Given the description of an element on the screen output the (x, y) to click on. 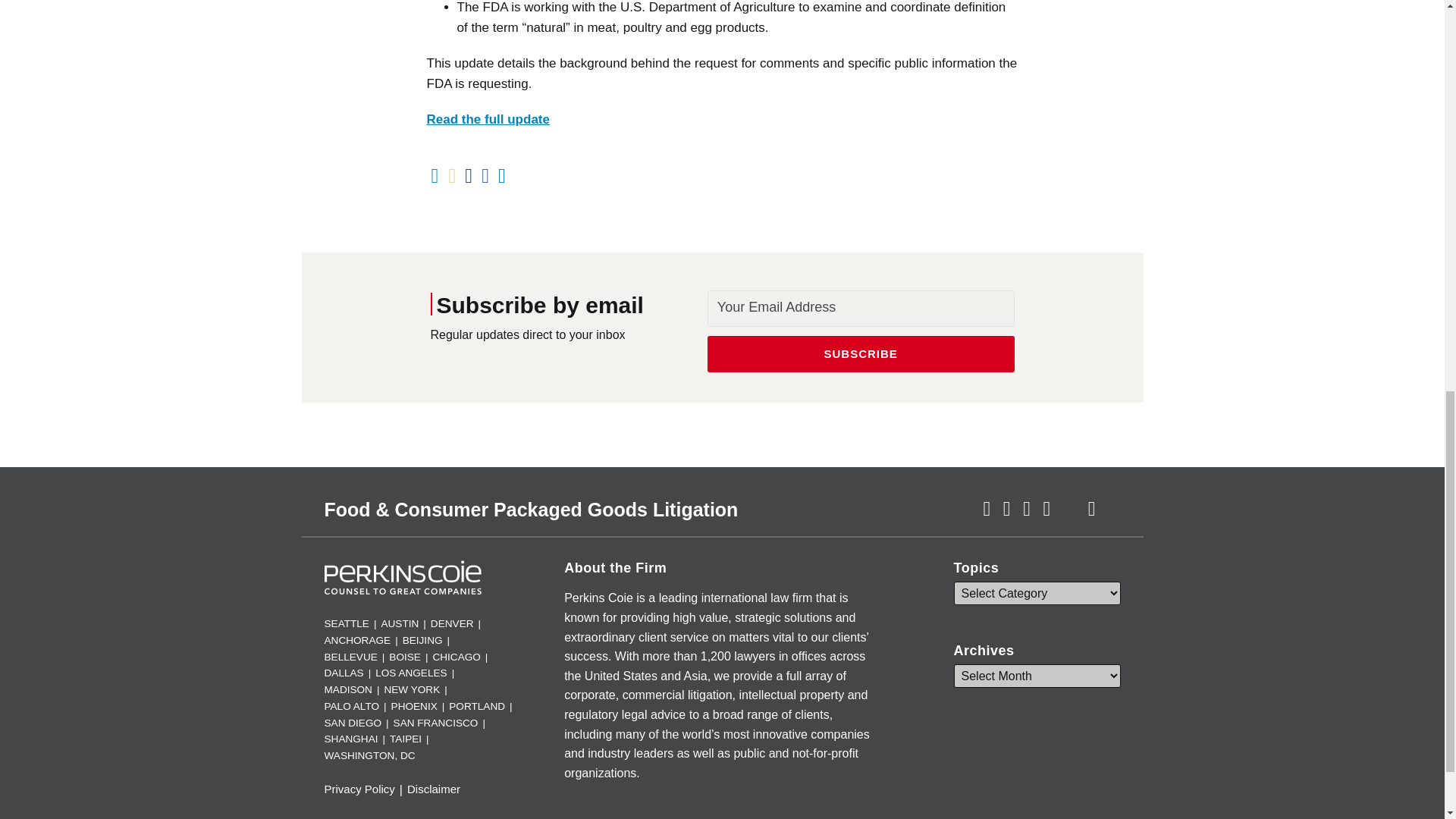
Subscribe (860, 353)
Read the full update (487, 119)
Subscribe (860, 353)
